Given the description of an element on the screen output the (x, y) to click on. 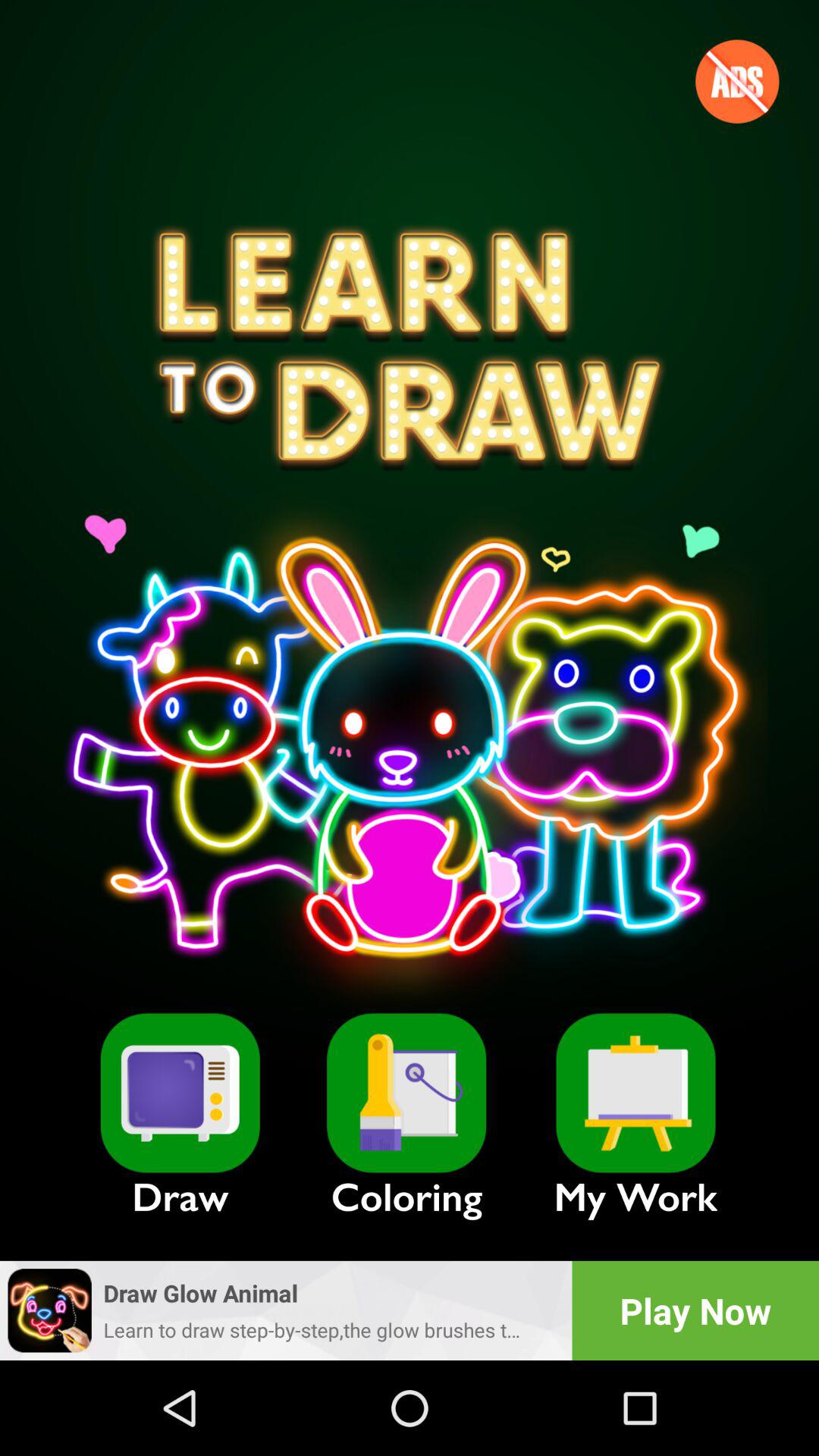
press play now app (695, 1310)
